Given the description of an element on the screen output the (x, y) to click on. 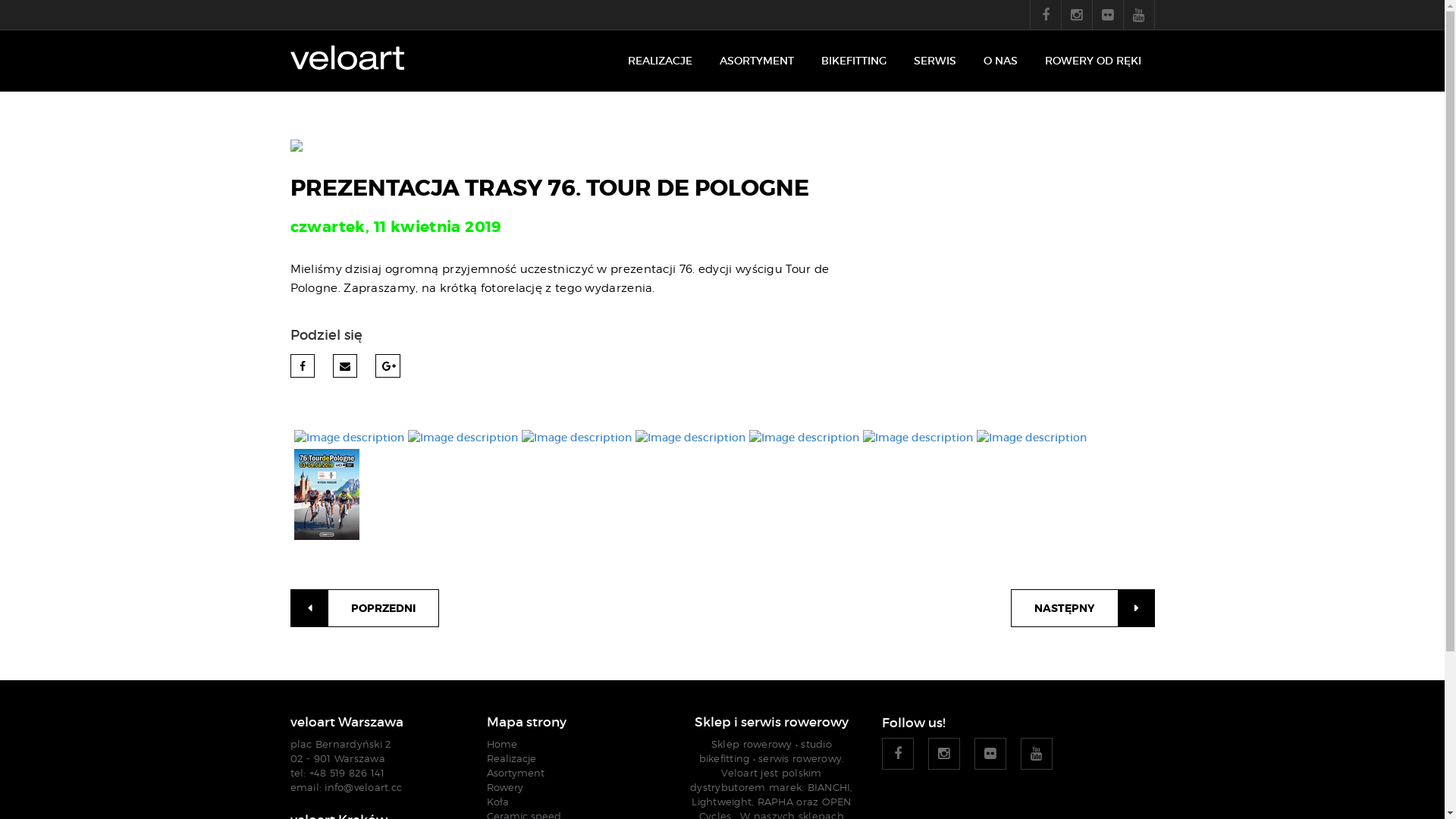
ASORTYMENT Element type: text (755, 60)
BIKEFITTING Element type: text (852, 60)
REALIZACJE Element type: text (660, 60)
Rowery Element type: text (504, 787)
Asortyment Element type: text (515, 772)
Realizacje Element type: text (511, 758)
O NAS Element type: text (999, 60)
Home Element type: text (501, 743)
POPRZEDNI Element type: text (363, 608)
info@veloart.cc Element type: text (362, 787)
SERWIS Element type: text (934, 60)
